Given the description of an element on the screen output the (x, y) to click on. 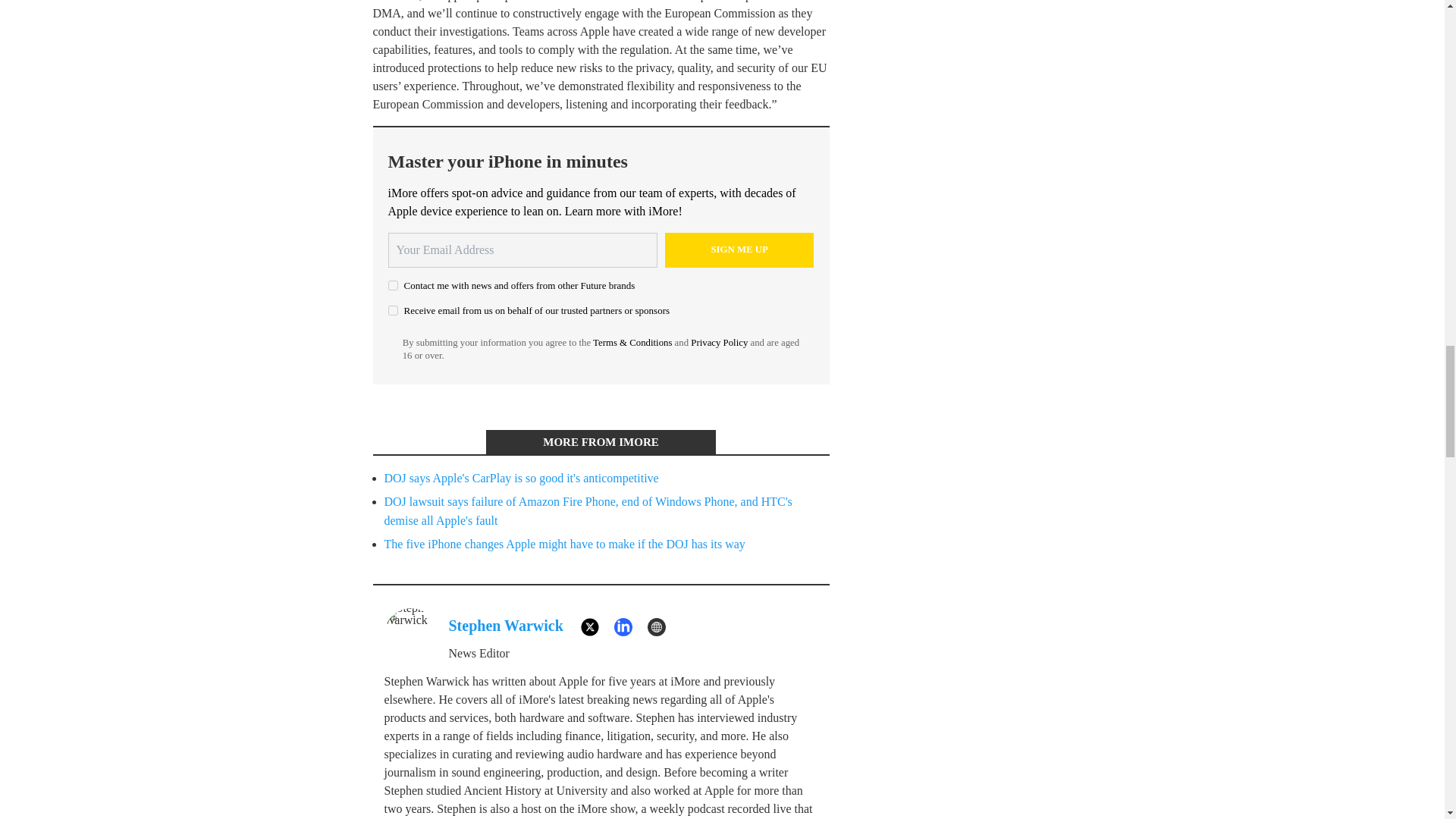
on (392, 285)
Sign me up (739, 249)
on (392, 310)
